Given the description of an element on the screen output the (x, y) to click on. 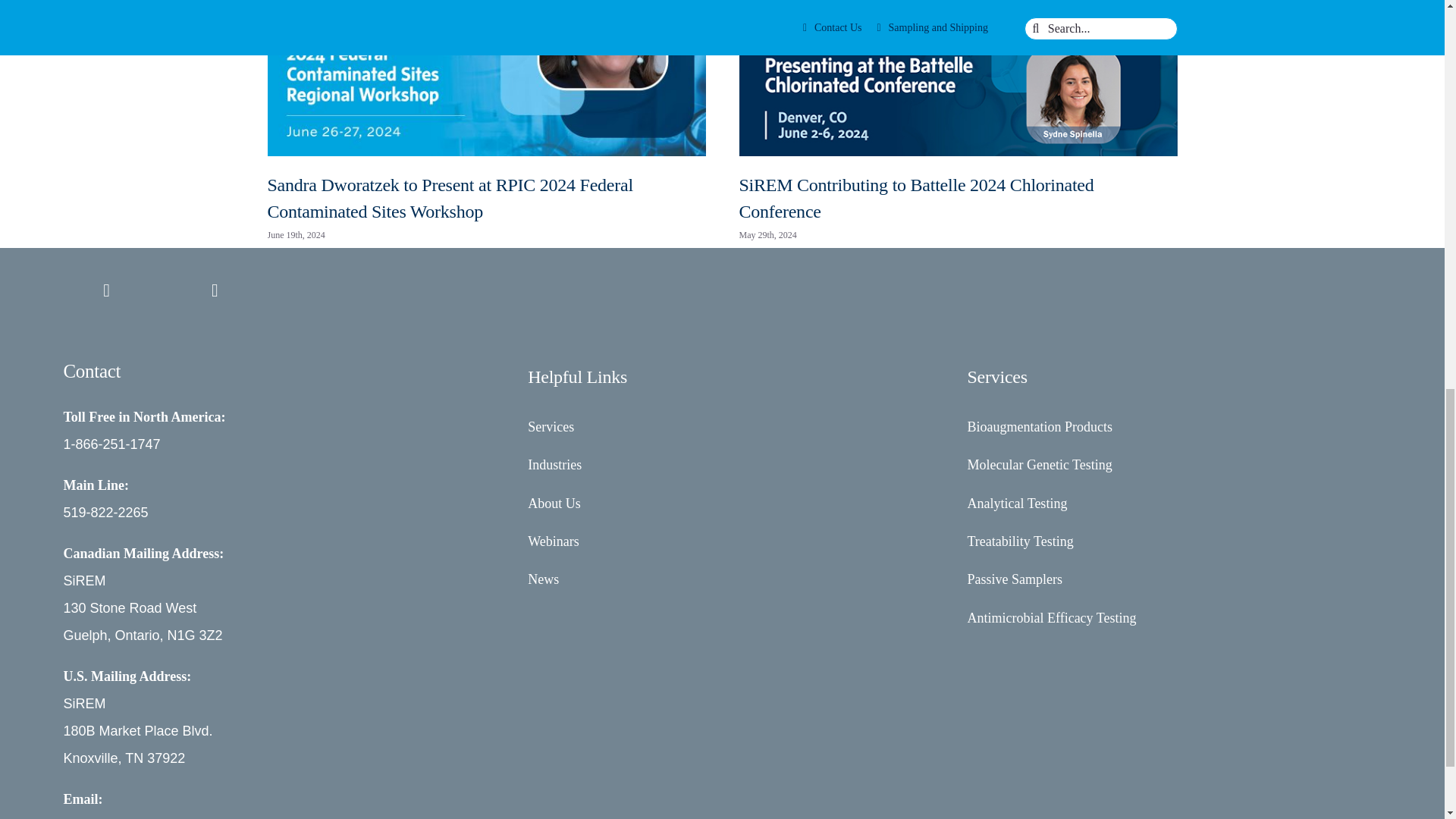
SiREM Contributing to Battelle 2024 Chlorinated Conference (915, 198)
